Given the description of an element on the screen output the (x, y) to click on. 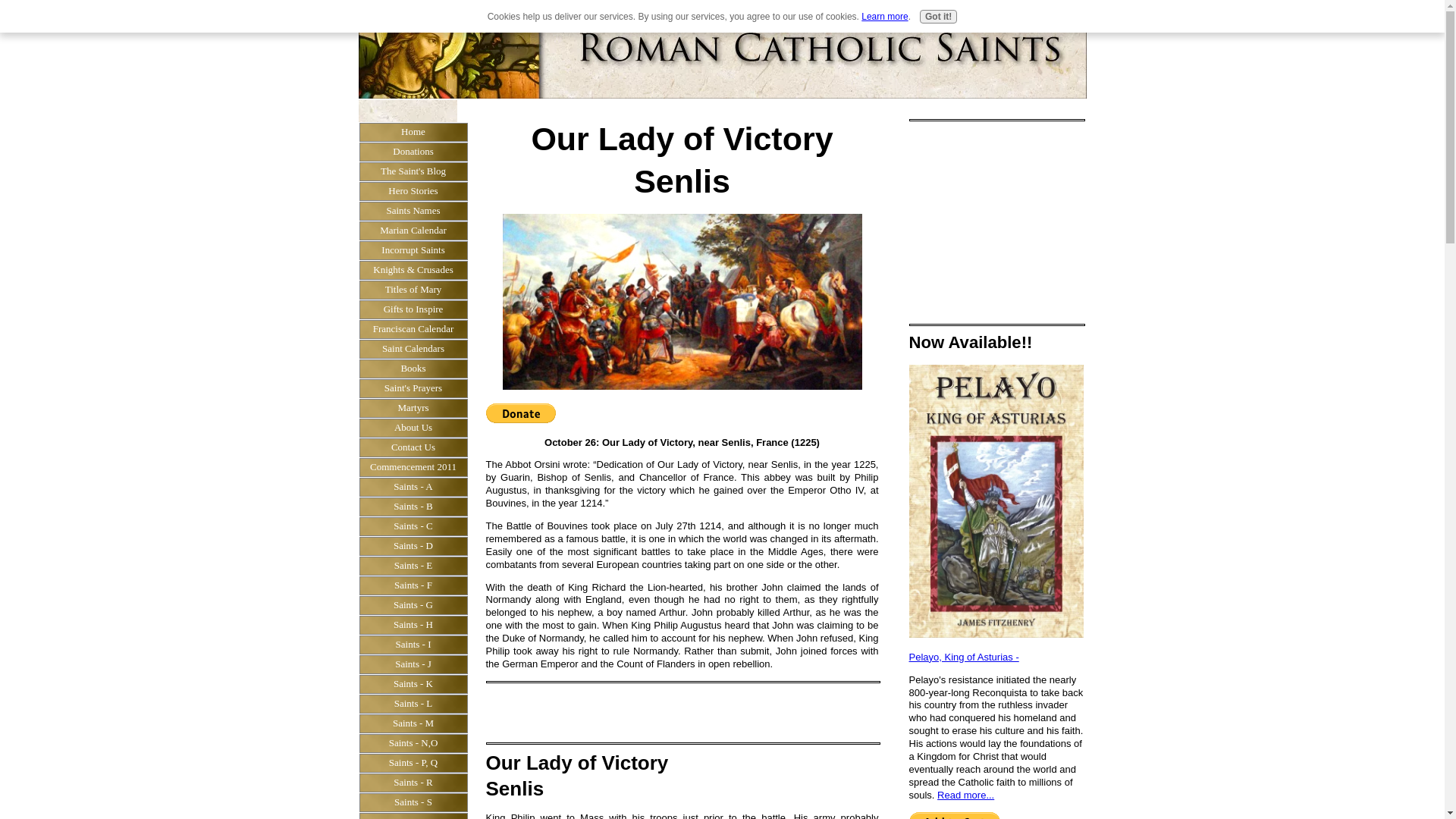
Gifts to Inspire (412, 309)
Incorrupt Saints (412, 250)
Commencement 2011 (412, 466)
Saints - F (412, 585)
Saints - G (412, 605)
Titles of Mary (412, 289)
Contact Us (412, 447)
Martyrs (412, 407)
Advertisement (1002, 220)
Saints - E (412, 565)
